Given the description of an element on the screen output the (x, y) to click on. 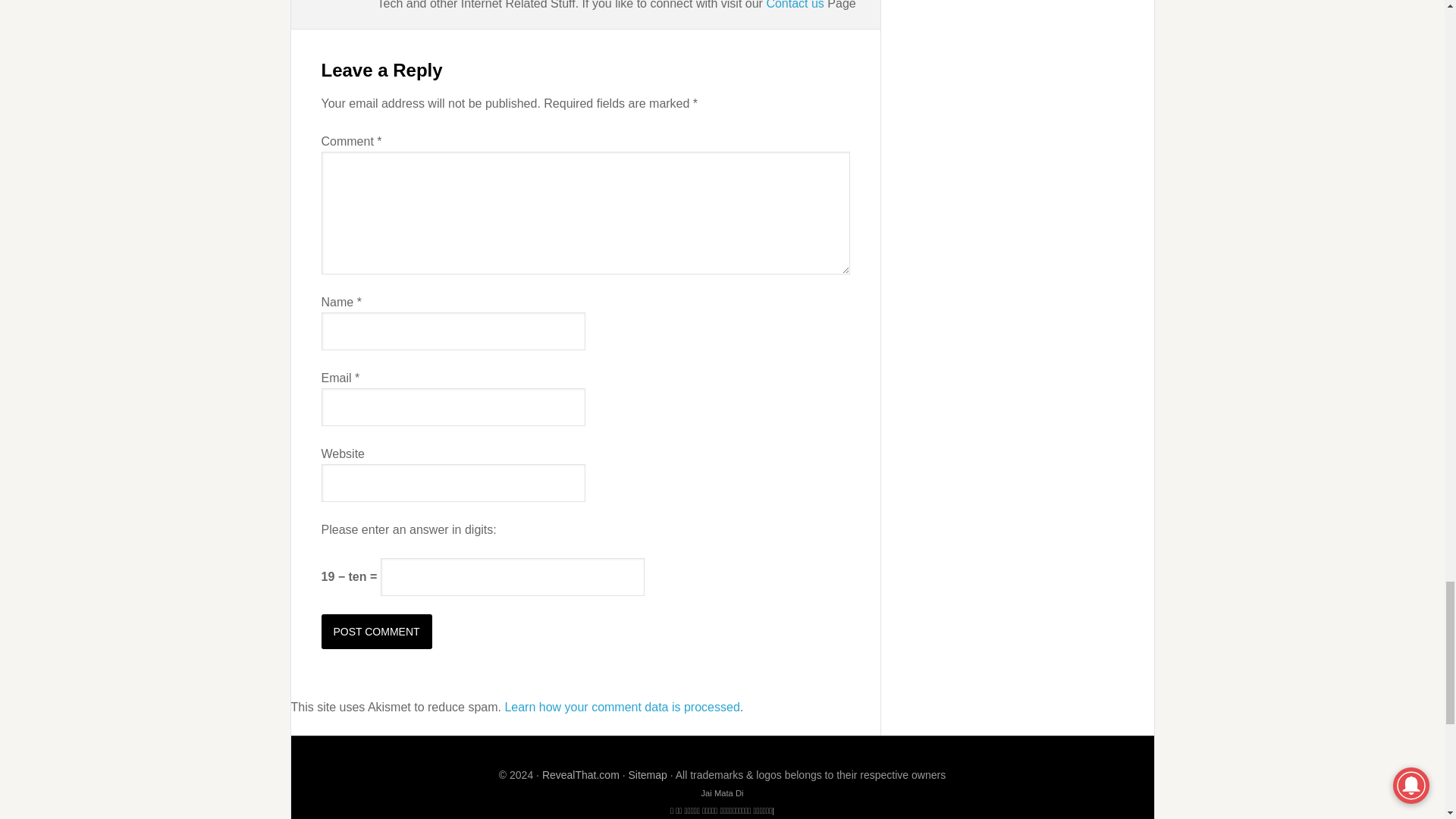
Post Comment (376, 631)
Contact us (794, 4)
Post Comment (376, 631)
Sitemap (646, 775)
Learn how your comment data is processed (621, 707)
RevealThat.com (580, 775)
